Given the description of an element on the screen output the (x, y) to click on. 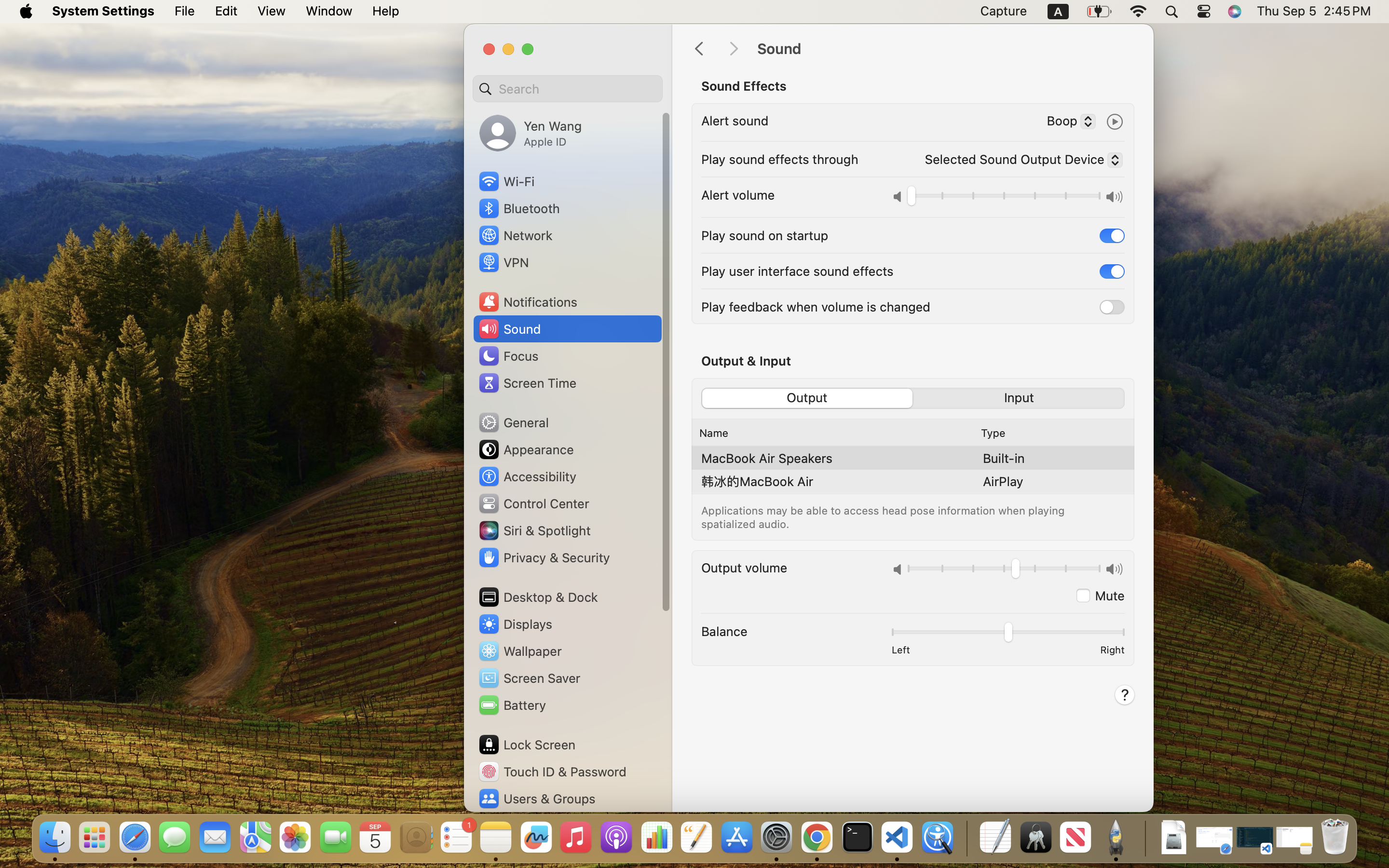
0.5625 Element type: AXSlider (1003, 569)
Alert sound Element type: AXStaticText (734, 120)
Focus Element type: AXStaticText (507, 355)
Control Center Element type: AXStaticText (533, 503)
Battery Element type: AXStaticText (511, 704)
